Given the description of an element on the screen output the (x, y) to click on. 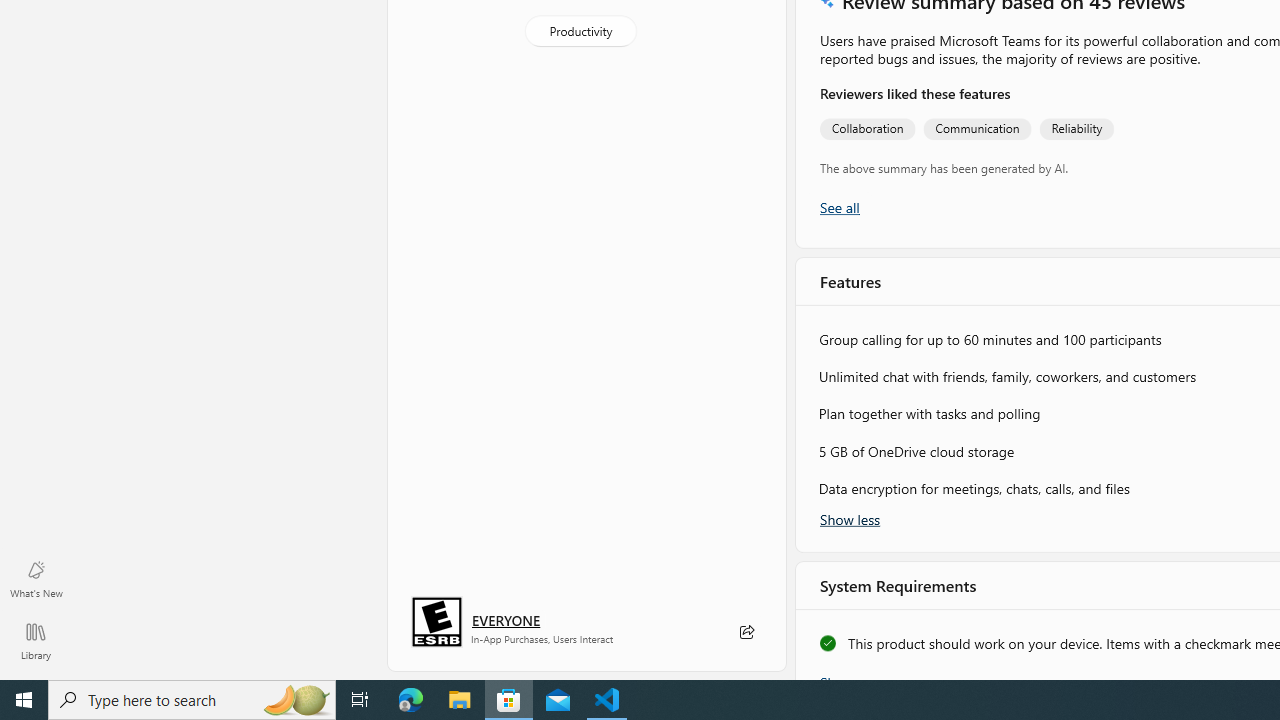
Share (746, 632)
Productivity (579, 30)
Show all ratings and reviews (838, 207)
Show less (850, 518)
Age rating: EVERYONE. Click for more information. (506, 619)
Show more (854, 674)
What's New (35, 578)
Library (35, 640)
